Given the description of an element on the screen output the (x, y) to click on. 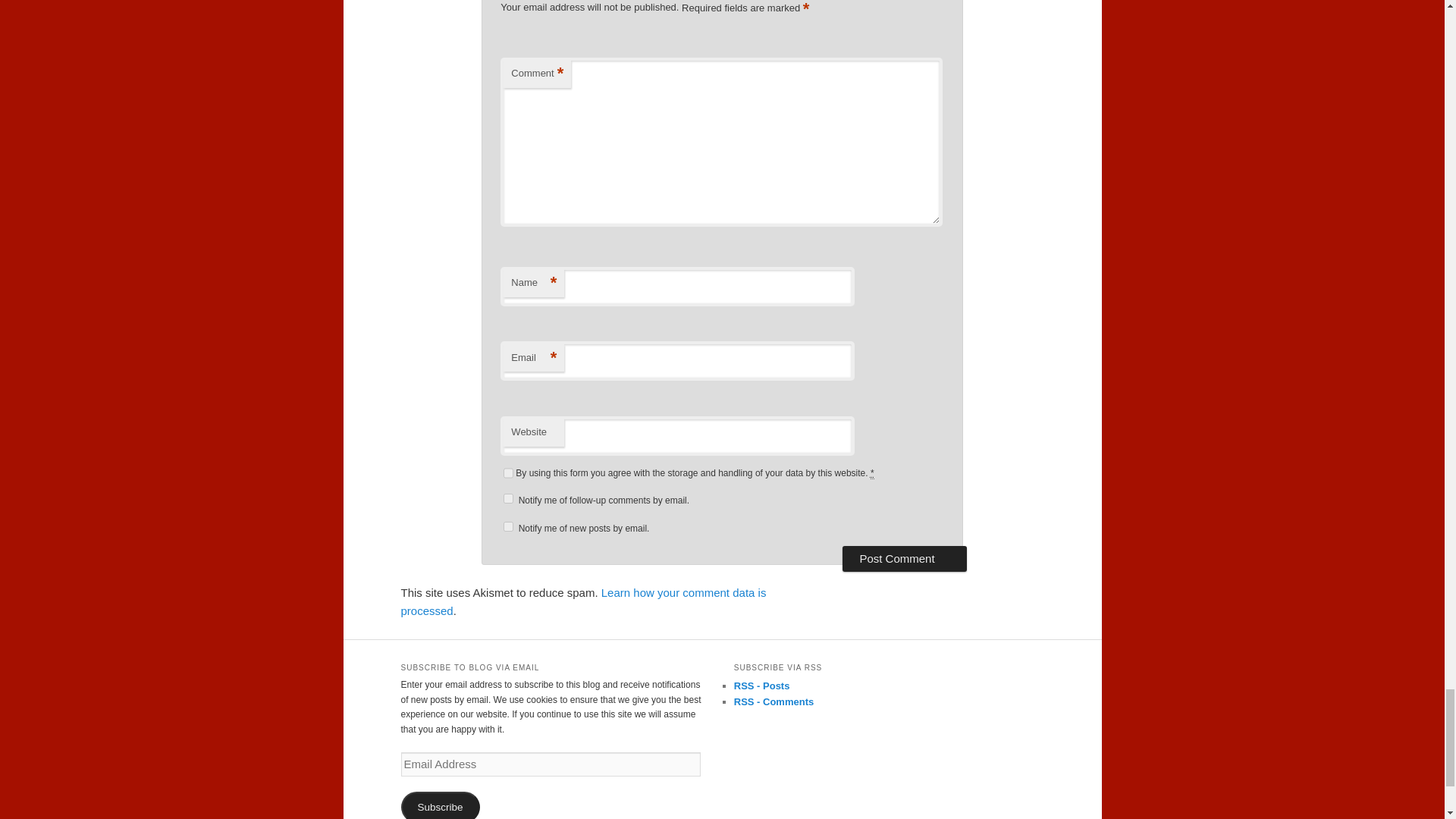
subscribe (508, 526)
Subscribe to posts (761, 685)
Post Comment (904, 558)
subscribe (508, 498)
